Given the description of an element on the screen output the (x, y) to click on. 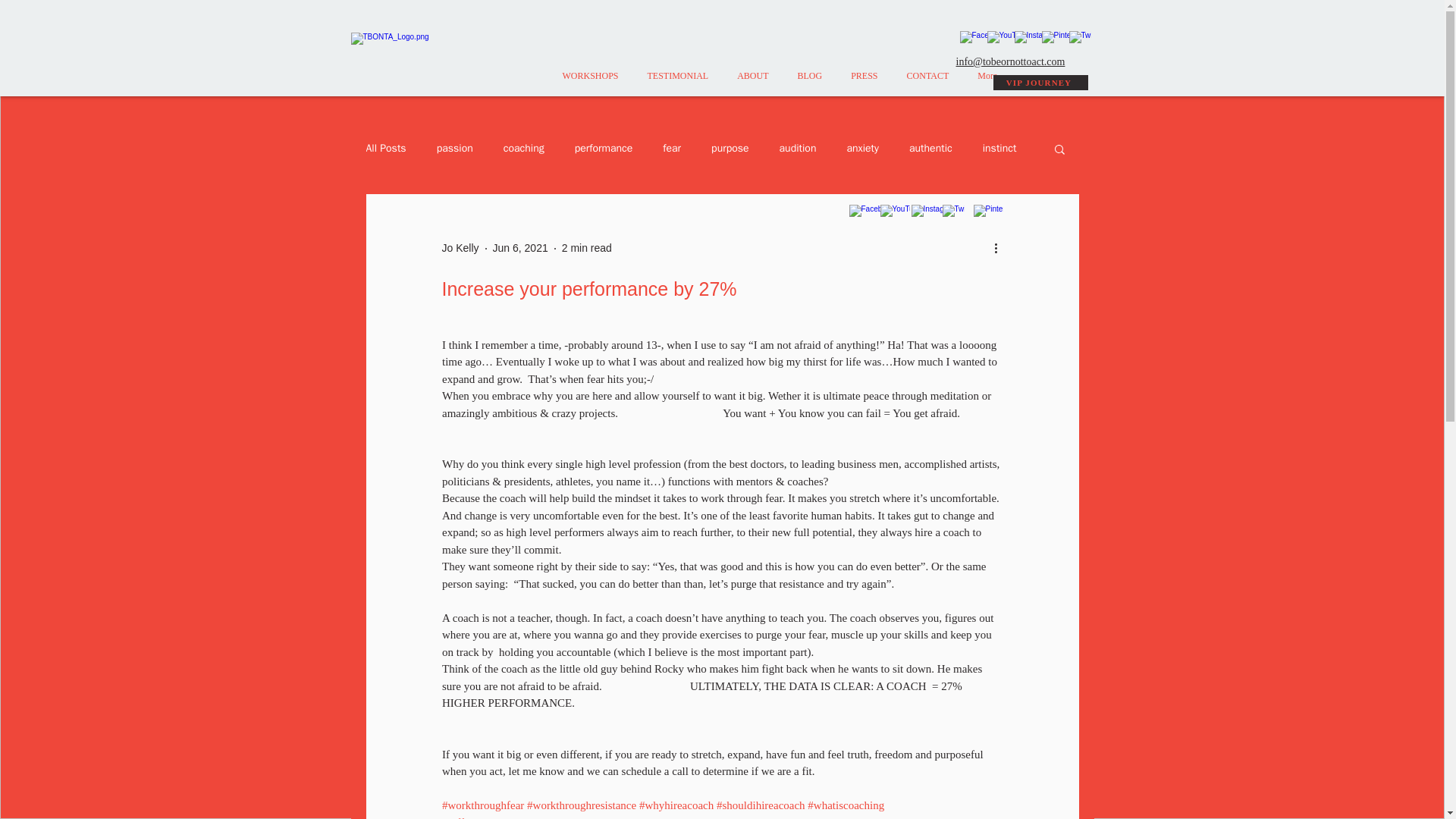
All Posts (385, 148)
PRESS (863, 82)
TESTIMONIAL (678, 82)
passion (454, 148)
instinct (999, 148)
BLOG (810, 82)
2 min read (586, 247)
purpose (729, 148)
VIP JOURNEY (1039, 82)
anxiety (862, 148)
